Given the description of an element on the screen output the (x, y) to click on. 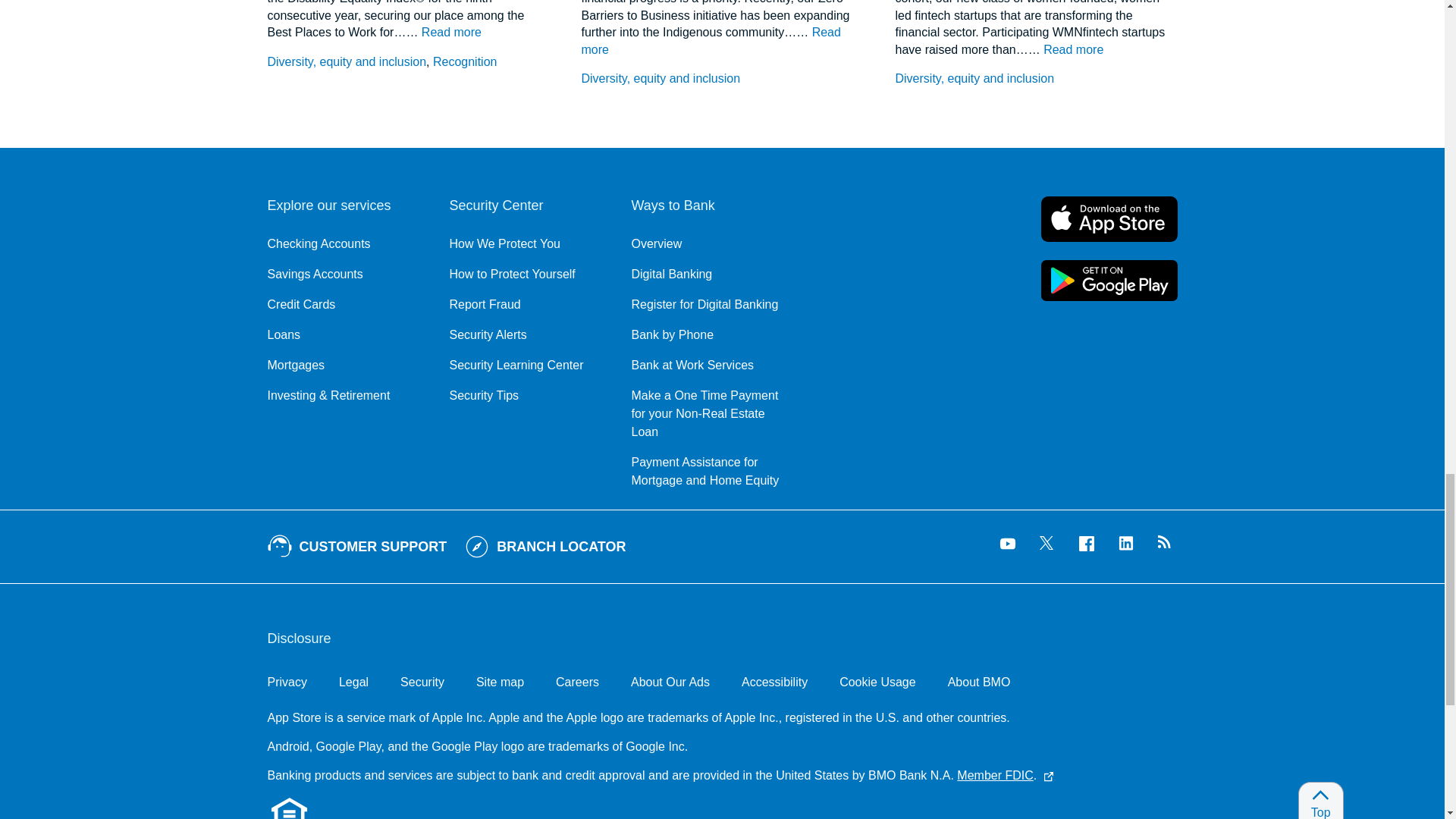
Security Center (527, 206)
Ways to Bank (709, 206)
Explore our services (345, 206)
